Given the description of an element on the screen output the (x, y) to click on. 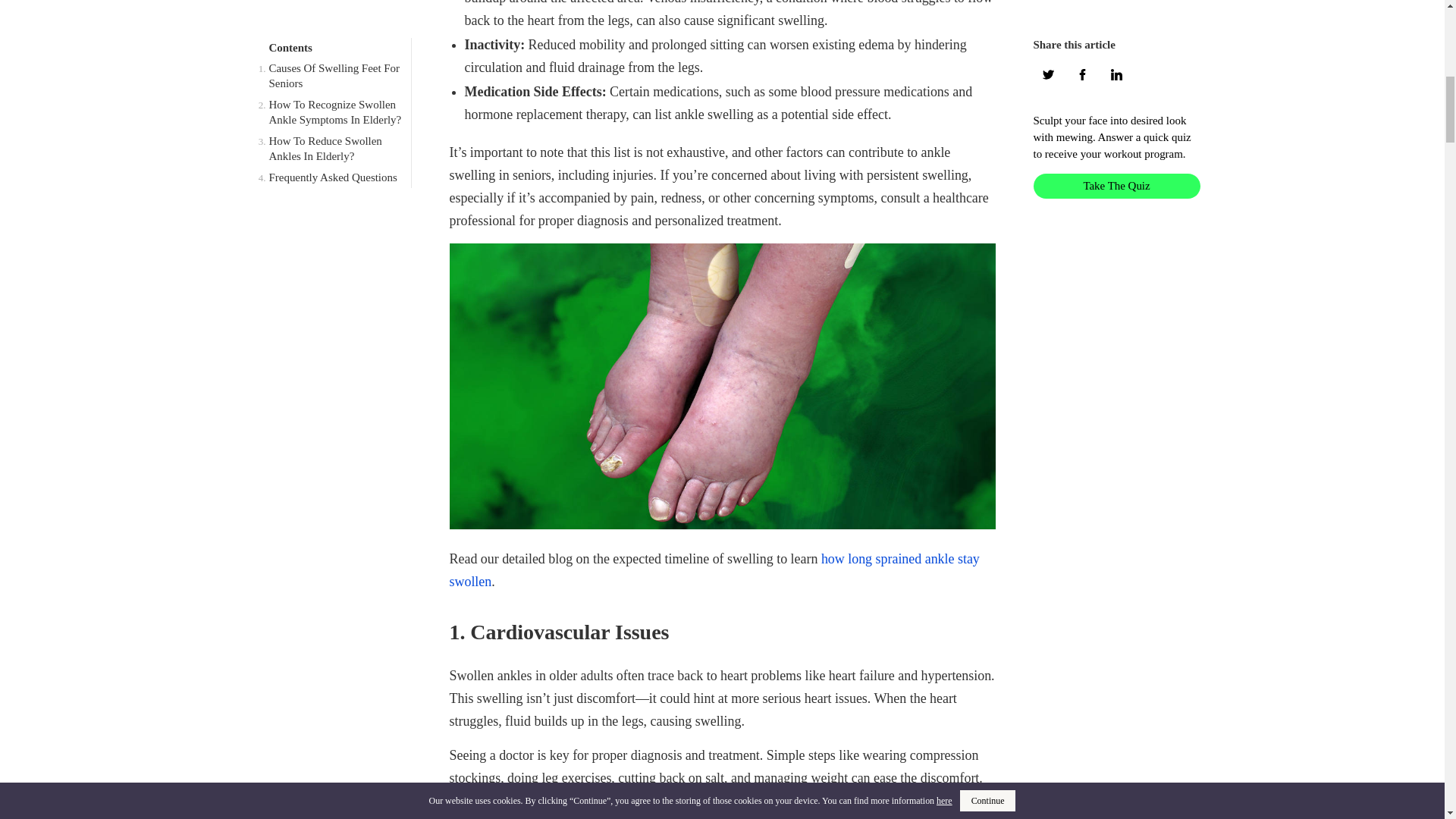
how long sprained ankle stay swollen (713, 569)
